Given the description of an element on the screen output the (x, y) to click on. 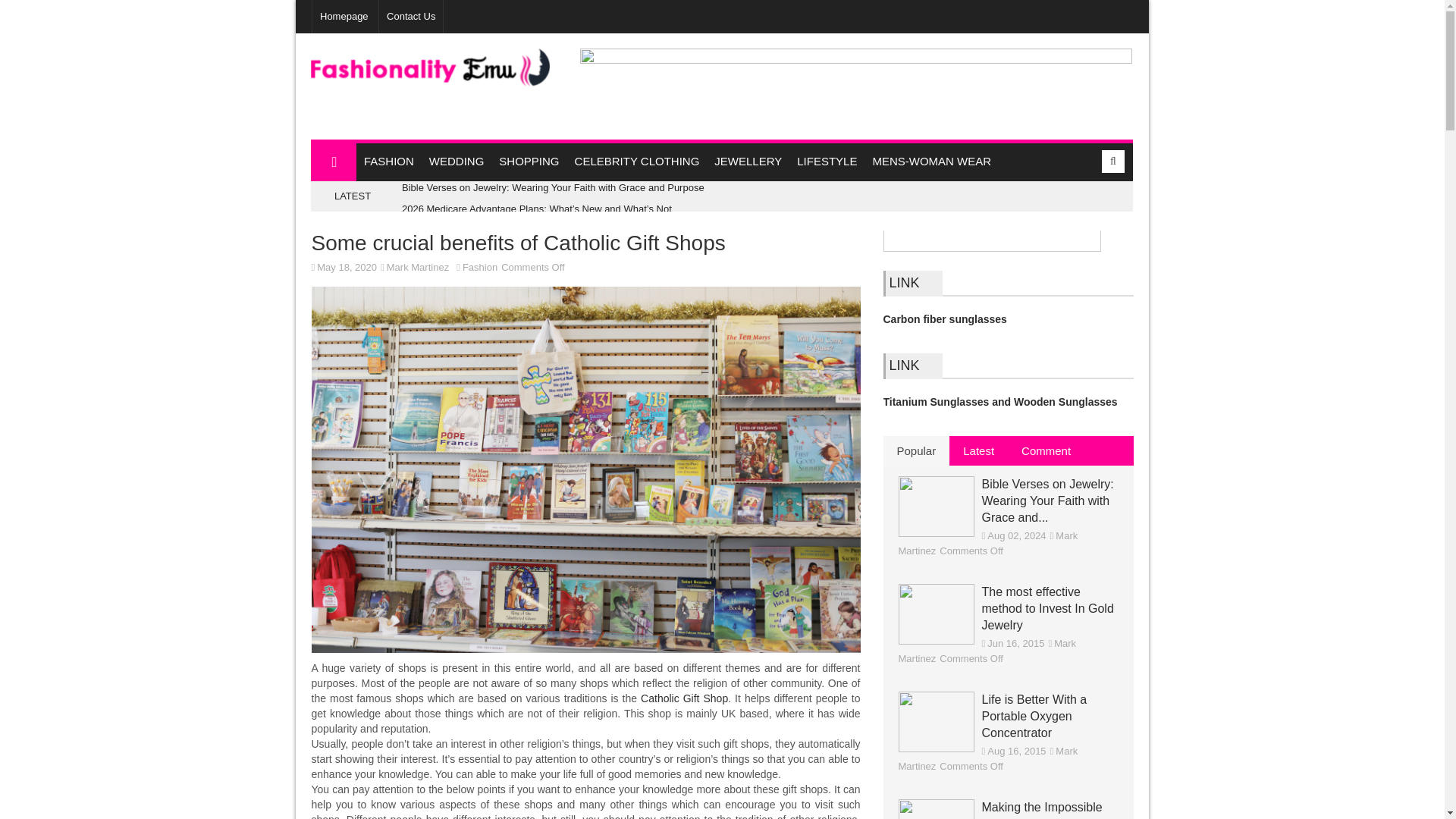
FASHION (389, 161)
Posts by Mark Martinez (987, 542)
SHOPPING (529, 161)
MENS-WOMAN WEAR (931, 161)
WEDDING (457, 161)
LIFESTYLE (826, 161)
CELEBRITY CLOTHING (637, 161)
JEWELLERY (747, 161)
